Given the description of an element on the screen output the (x, y) to click on. 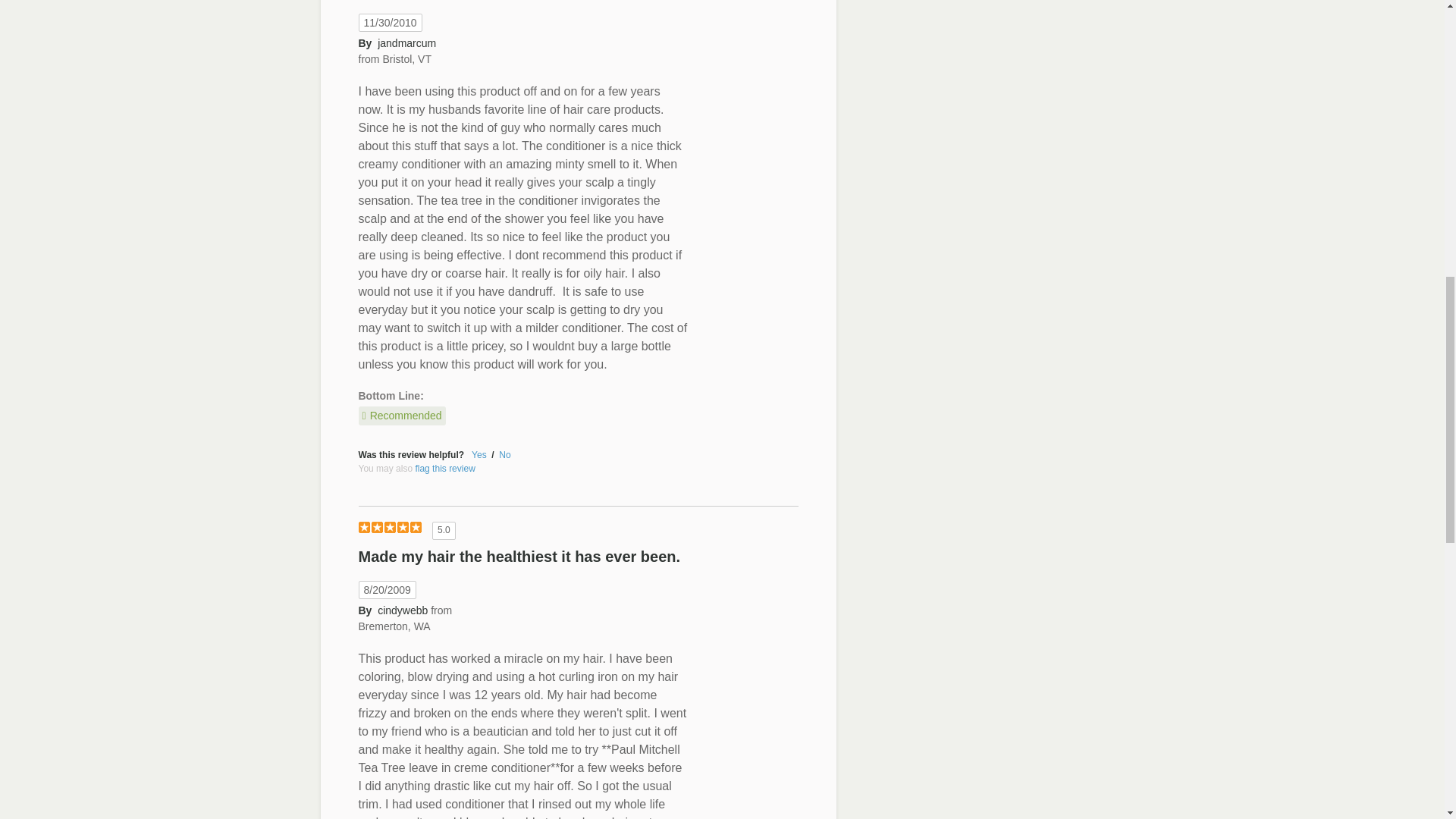
Perfect. It doesn't get any better (389, 527)
